Given the description of an element on the screen output the (x, y) to click on. 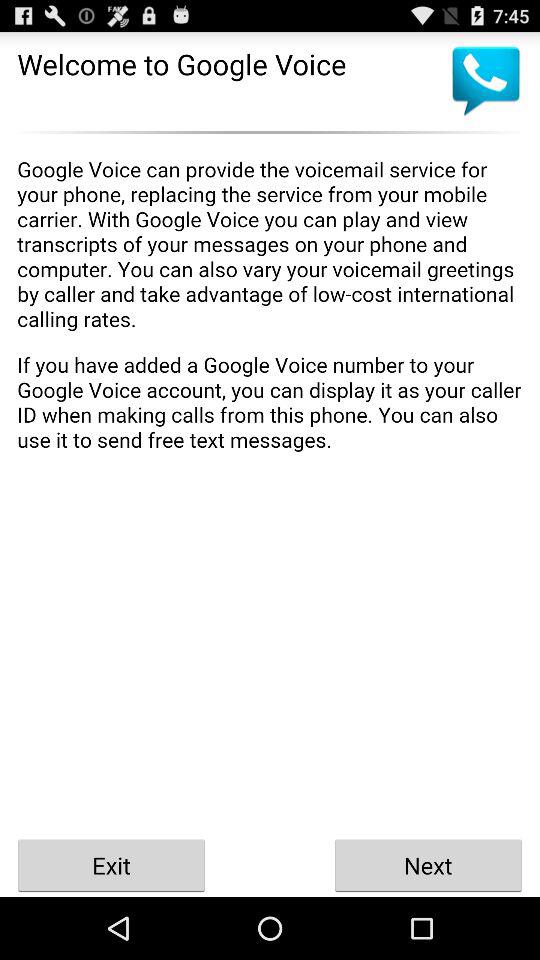
launch the exit icon (111, 864)
